Given the description of an element on the screen output the (x, y) to click on. 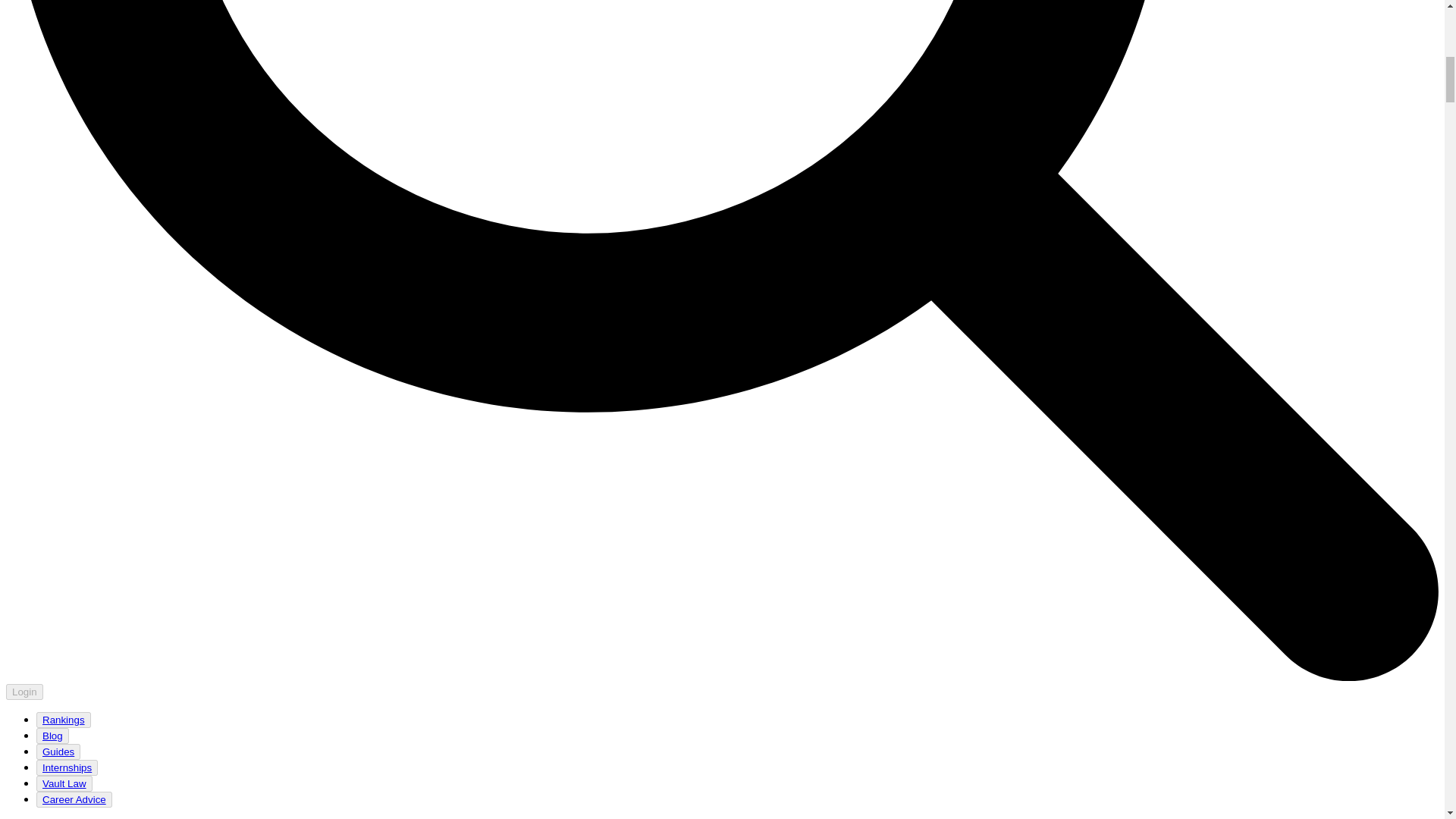
Rankings (63, 719)
Career Advice (74, 799)
Login (24, 690)
Internships (66, 767)
Blog (52, 735)
Blog (52, 736)
Internships (66, 767)
Vault Law (64, 783)
Vault Law (63, 783)
Career Advice (74, 799)
Guides (58, 751)
Login (24, 691)
Guides (58, 751)
Rankings (63, 719)
